Given the description of an element on the screen output the (x, y) to click on. 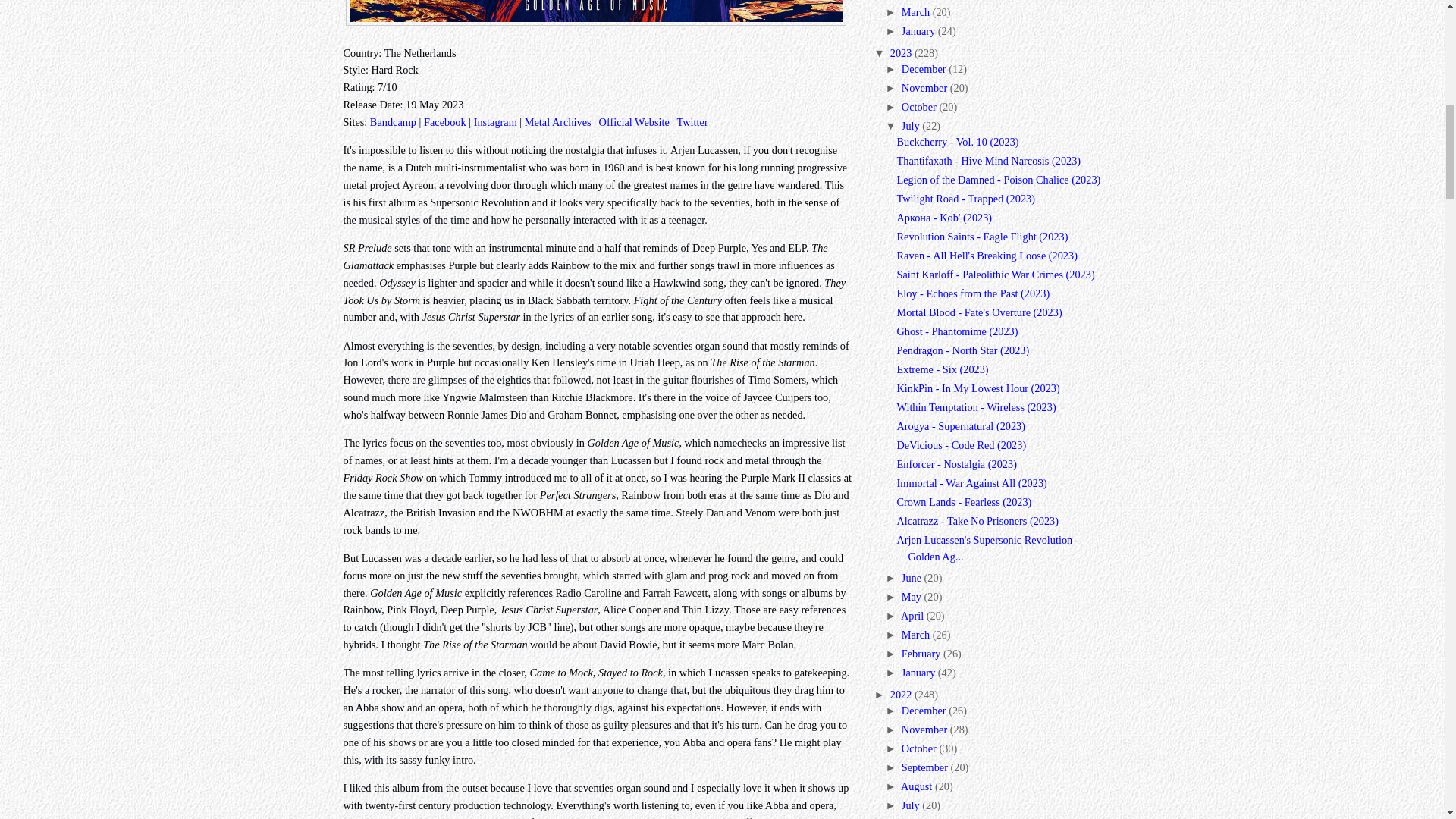
Twitter (692, 121)
Facebook (444, 121)
Instagram (495, 121)
Official Website (633, 121)
Bandcamp (392, 121)
Metal Archives (557, 121)
